Given the description of an element on the screen output the (x, y) to click on. 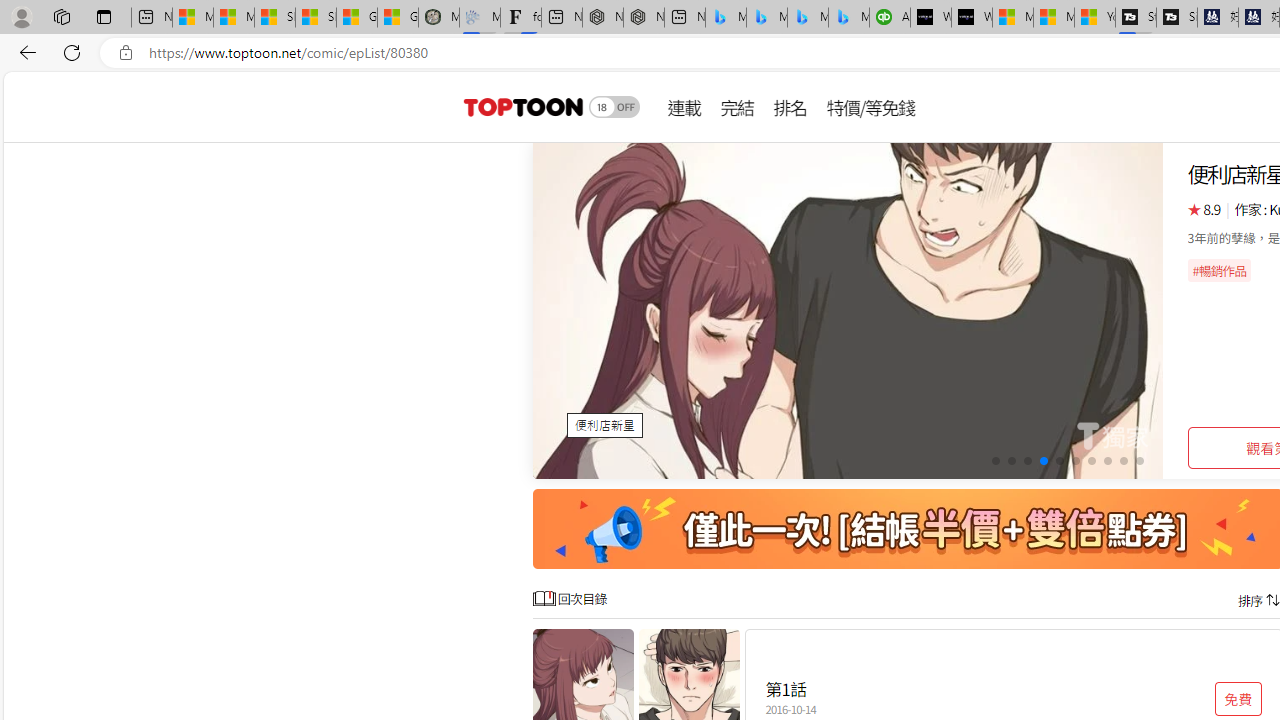
Streaming Coverage | T3 (1135, 17)
Nordace - #1 Japanese Best-Seller - Siena Smart Backpack (643, 17)
Back (24, 52)
New tab (684, 17)
Class: swiper-slide swiper-slide-active (847, 310)
Go to slide 6 (1075, 461)
Microsoft Start Sports (1012, 17)
Microsoft Start (1053, 17)
Microsoft Bing Travel - Shangri-La Hotel Bangkok (849, 17)
Go to slide 1 (994, 461)
Go to slide 9 (1122, 461)
